Given the description of an element on the screen output the (x, y) to click on. 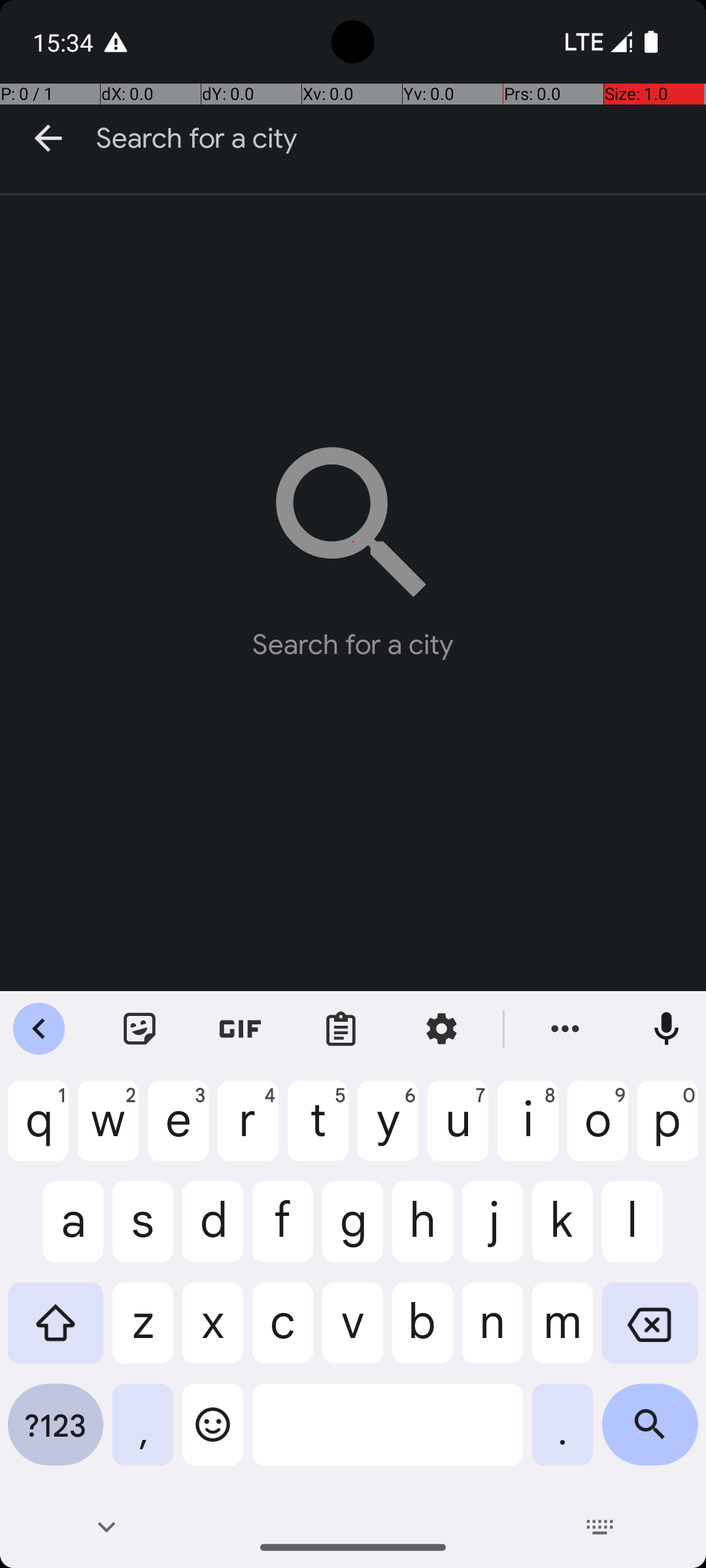
Back Element type: android.widget.ImageButton (48, 138)
Search for a city Element type: android.widget.EditText (401, 138)
Switch input method Element type: android.widget.ImageView (599, 1526)
Close features menu Element type: android.widget.FrameLayout (39, 1028)
Sticker Keyboard Element type: android.widget.FrameLayout (139, 1028)
GIF Keyboard Element type: android.widget.FrameLayout (240, 1028)
Clipboard Element type: android.widget.FrameLayout (340, 1028)
More features Element type: android.widget.FrameLayout (565, 1028)
Voice input Element type: android.widget.FrameLayout (666, 1028)
q Element type: android.widget.FrameLayout (38, 1130)
w Element type: android.widget.FrameLayout (108, 1130)
e Element type: android.widget.FrameLayout (178, 1130)
r Element type: android.widget.FrameLayout (248, 1130)
t Element type: android.widget.FrameLayout (318, 1130)
y Element type: android.widget.FrameLayout (387, 1130)
u Element type: android.widget.FrameLayout (457, 1130)
i Element type: android.widget.FrameLayout (527, 1130)
o Element type: android.widget.FrameLayout (597, 1130)
p Element type: android.widget.FrameLayout (667, 1130)
a Element type: android.widget.FrameLayout (55, 1231)
s Element type: android.widget.FrameLayout (142, 1231)
d Element type: android.widget.FrameLayout (212, 1231)
f Element type: android.widget.FrameLayout (282, 1231)
g Element type: android.widget.FrameLayout (352, 1231)
h Element type: android.widget.FrameLayout (422, 1231)
j Element type: android.widget.FrameLayout (492, 1231)
k Element type: android.widget.FrameLayout (562, 1231)
l Element type: android.widget.FrameLayout (649, 1231)
Shift Element type: android.widget.FrameLayout (55, 1332)
z Element type: android.widget.FrameLayout (142, 1332)
x Element type: android.widget.FrameLayout (212, 1332)
c Element type: android.widget.FrameLayout (282, 1332)
v Element type: android.widget.FrameLayout (352, 1332)
b Element type: android.widget.FrameLayout (422, 1332)
n Element type: android.widget.FrameLayout (492, 1332)
m Element type: android.widget.FrameLayout (562, 1332)
Symbol keyboard Element type: android.widget.FrameLayout (55, 1434)
, Element type: android.widget.FrameLayout (142, 1434)
Emoji button Element type: android.widget.FrameLayout (212, 1434)
Space Element type: android.widget.FrameLayout (387, 1434)
. Element type: android.widget.FrameLayout (562, 1434)
